Given the description of an element on the screen output the (x, y) to click on. 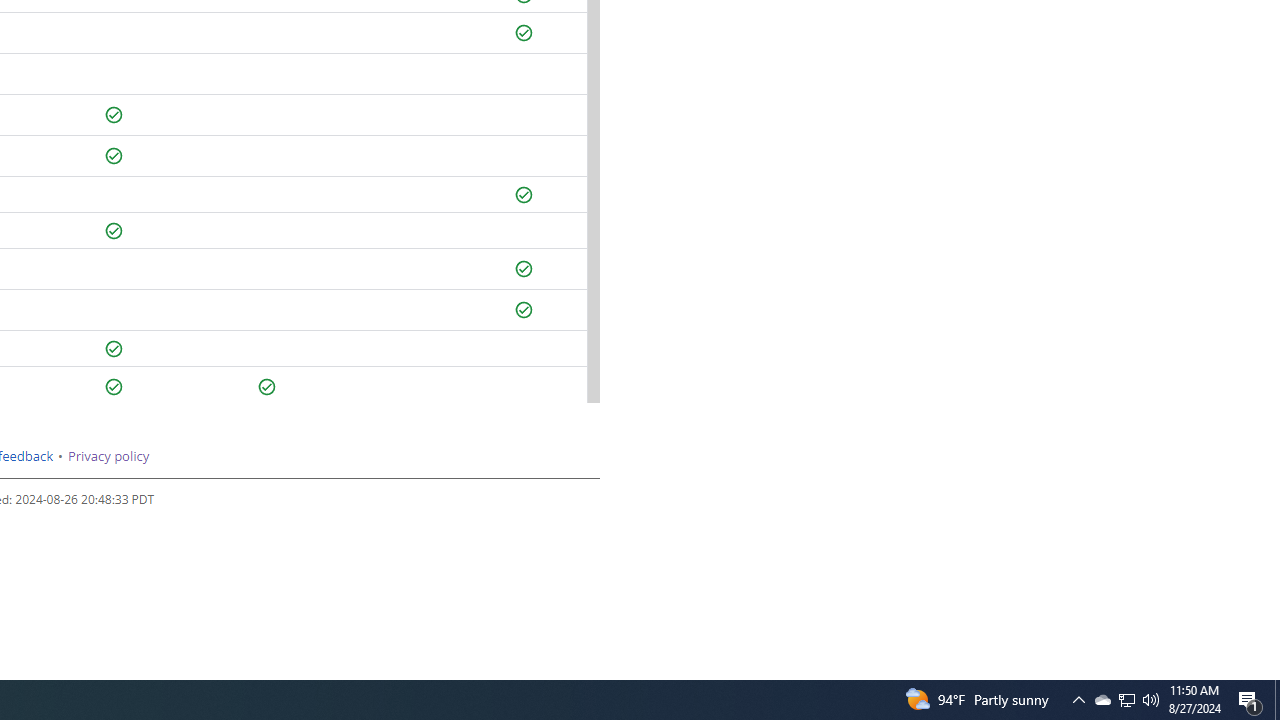
Privacy policy (107, 456)
Available status (267, 387)
